Given the description of an element on the screen output the (x, y) to click on. 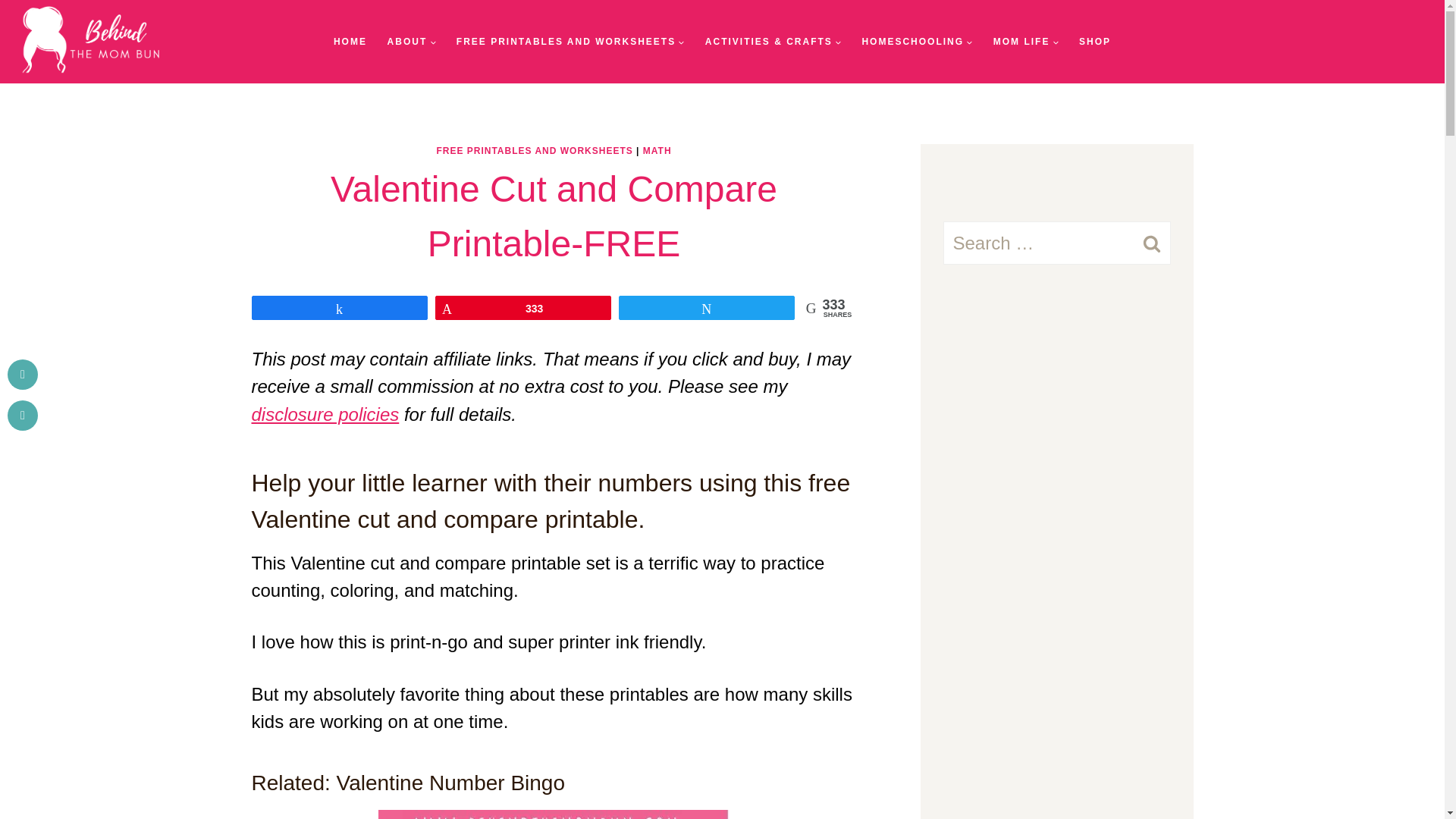
FREE PRINTABLES AND WORKSHEETS (570, 41)
MOM LIFE (1025, 41)
HOMESCHOOLING (916, 41)
Search (1151, 242)
HOME (350, 41)
ABOUT (411, 41)
Search (1151, 242)
